Given the description of an element on the screen output the (x, y) to click on. 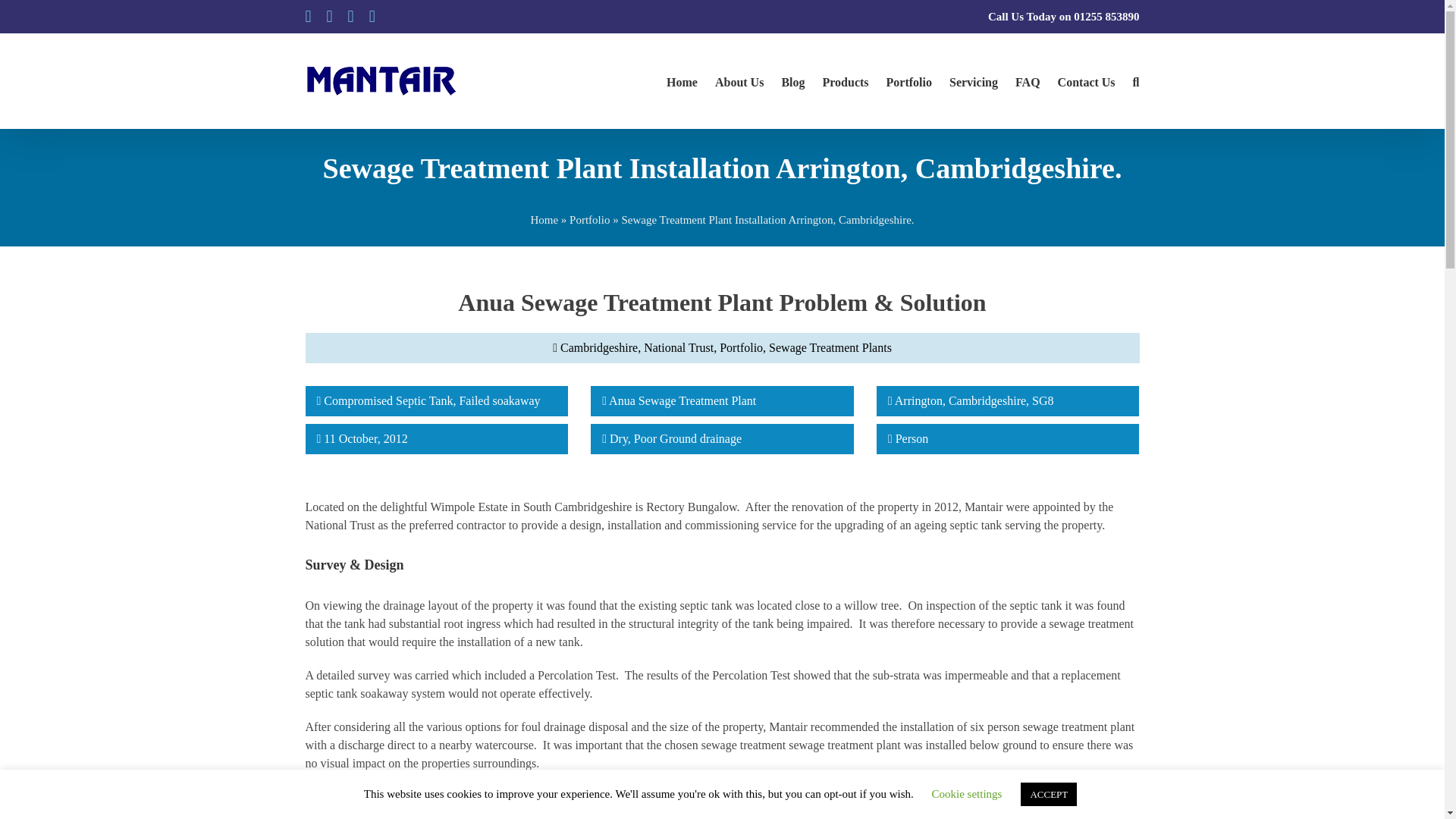
Products (845, 80)
About Us (738, 80)
Call Us Today on 01255 853890 (1064, 16)
Portfolio (908, 80)
